Given the description of an element on the screen output the (x, y) to click on. 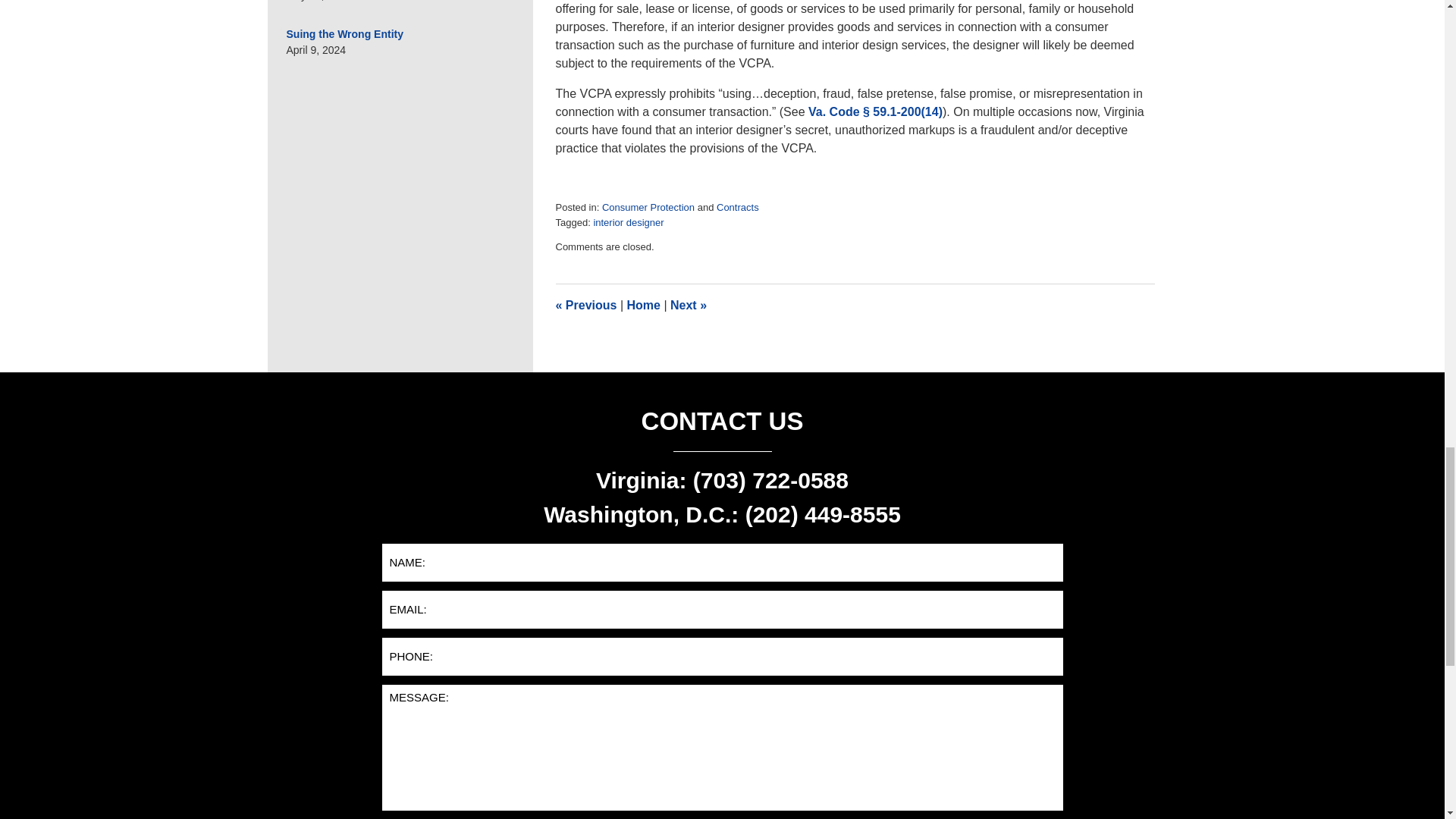
View all posts tagged with interior designer (627, 222)
Consumer Protection (648, 206)
Please enter a valid phone number. (721, 656)
View all posts in Consumer Protection (648, 206)
View all posts in Contracts (737, 206)
interior designer (627, 222)
Grossly Excessive Jury Awards Can Be Set Aside or Reduced (687, 305)
Contracts (737, 206)
Home (642, 305)
